Given the description of an element on the screen output the (x, y) to click on. 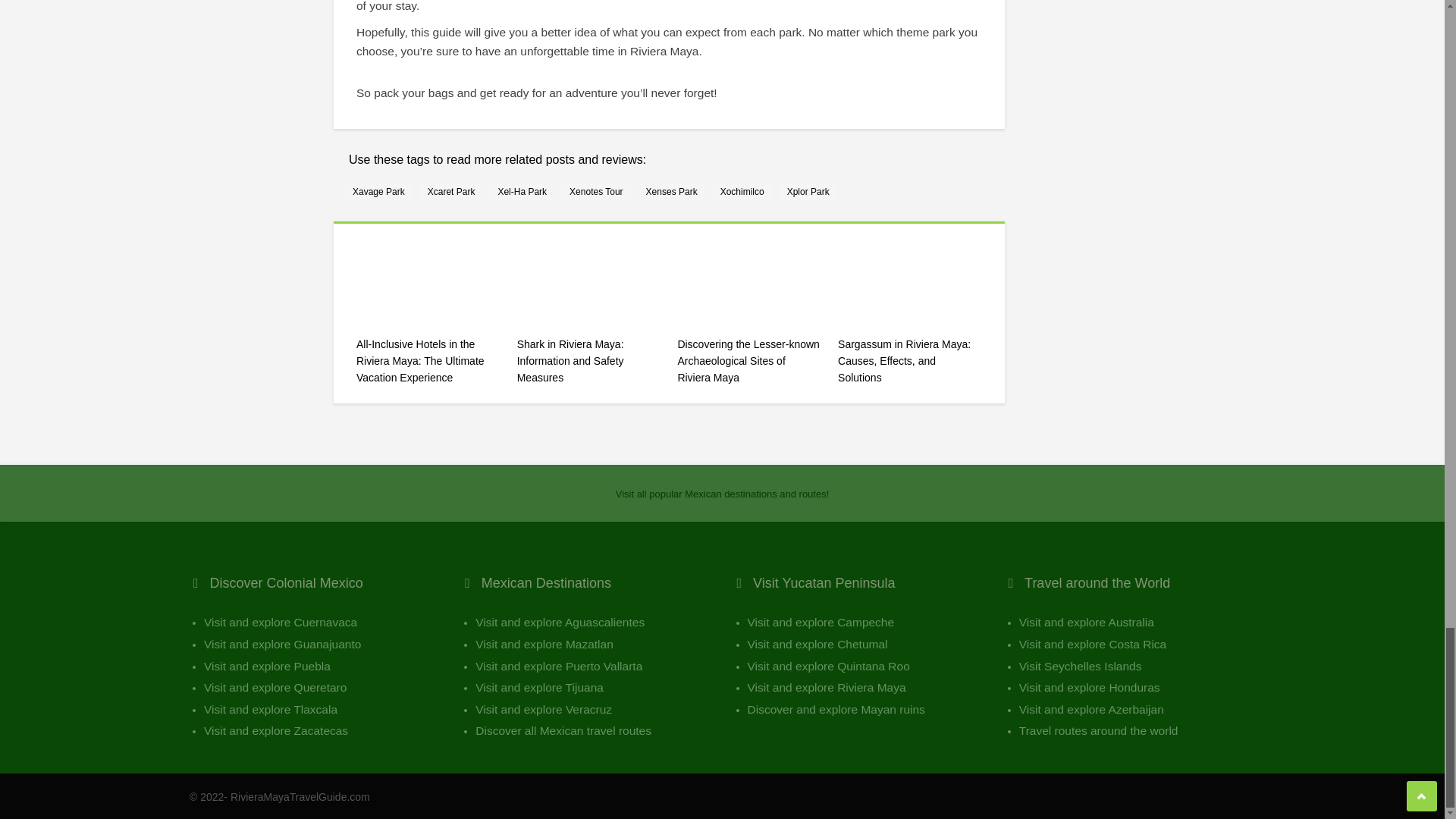
Xenotes Tour (596, 191)
Shark in Riviera Maya: Information and Safety Measures (588, 367)
Xplor Park (807, 191)
Xcaret Park (451, 191)
Xenses Park (671, 191)
Sargassum in Riviera Maya: Causes, Effects, and Solutions (909, 367)
Xel-Ha Park (521, 191)
Xochimilco (742, 191)
